Given the description of an element on the screen output the (x, y) to click on. 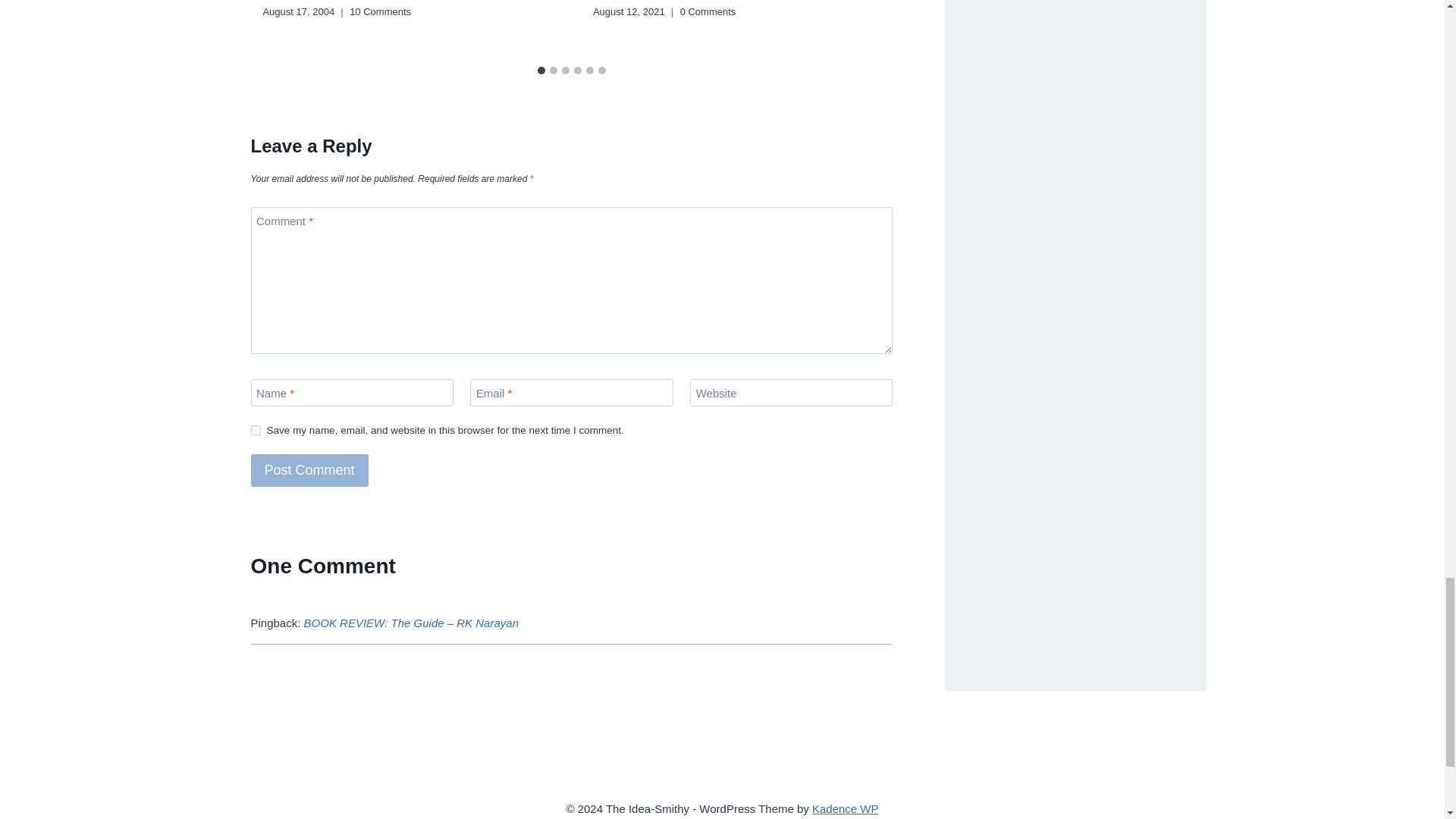
10 Comments (379, 11)
yes (255, 429)
Post Comment (309, 470)
0 Comments (707, 11)
